Given the description of an element on the screen output the (x, y) to click on. 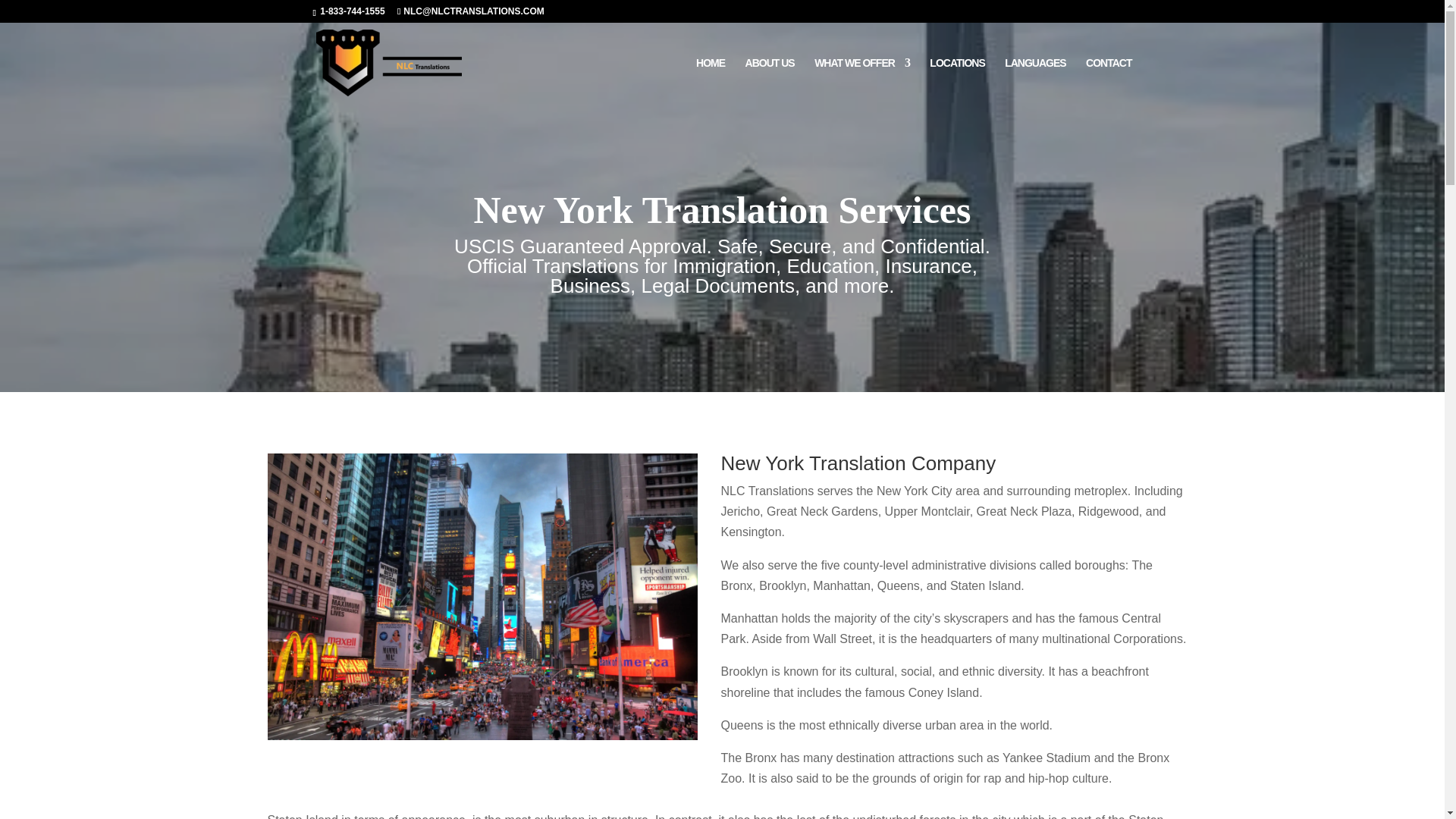
1-833-744-1555 (351, 10)
ABOUT US (769, 79)
CONTACT (1108, 79)
LANGUAGES (1034, 79)
LOCATIONS (957, 79)
WHAT WE OFFER (861, 79)
